Given the description of an element on the screen output the (x, y) to click on. 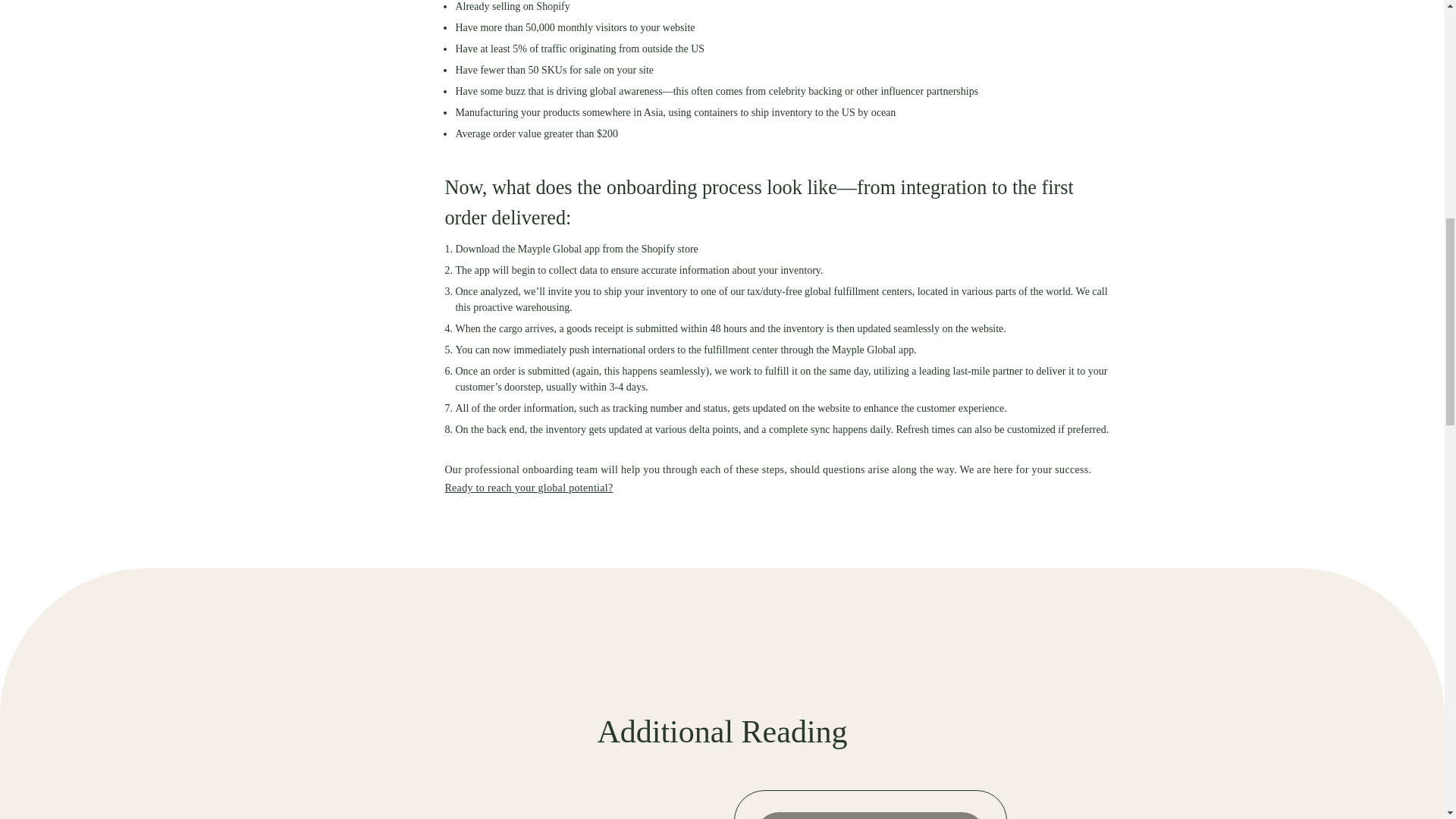
Ready to reach your global potential? (528, 487)
